Given the description of an element on the screen output the (x, y) to click on. 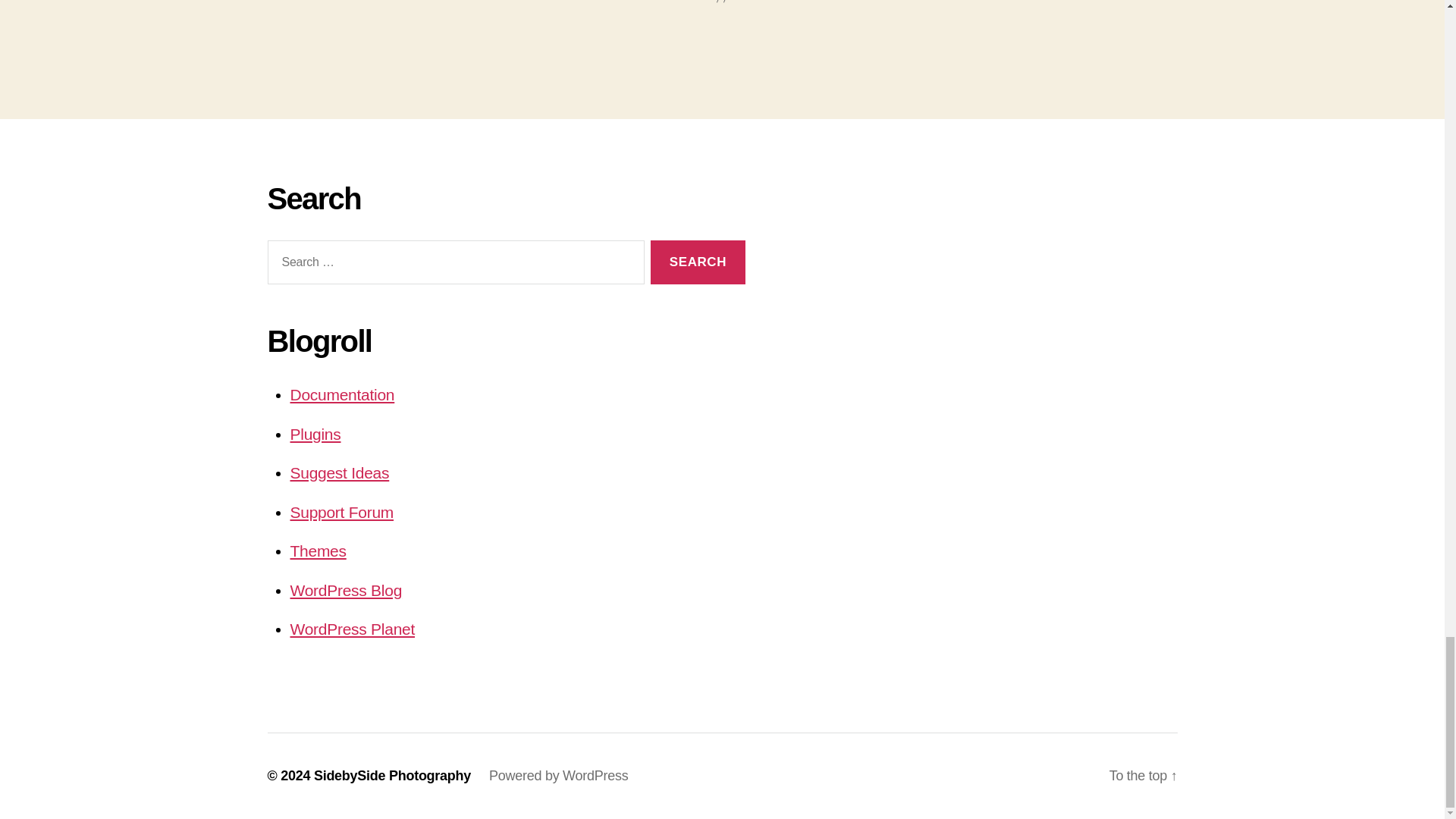
Suggest Ideas (338, 472)
Search (697, 262)
Search (697, 262)
Search (697, 262)
Plugins (314, 434)
Documentation (341, 394)
